Given the description of an element on the screen output the (x, y) to click on. 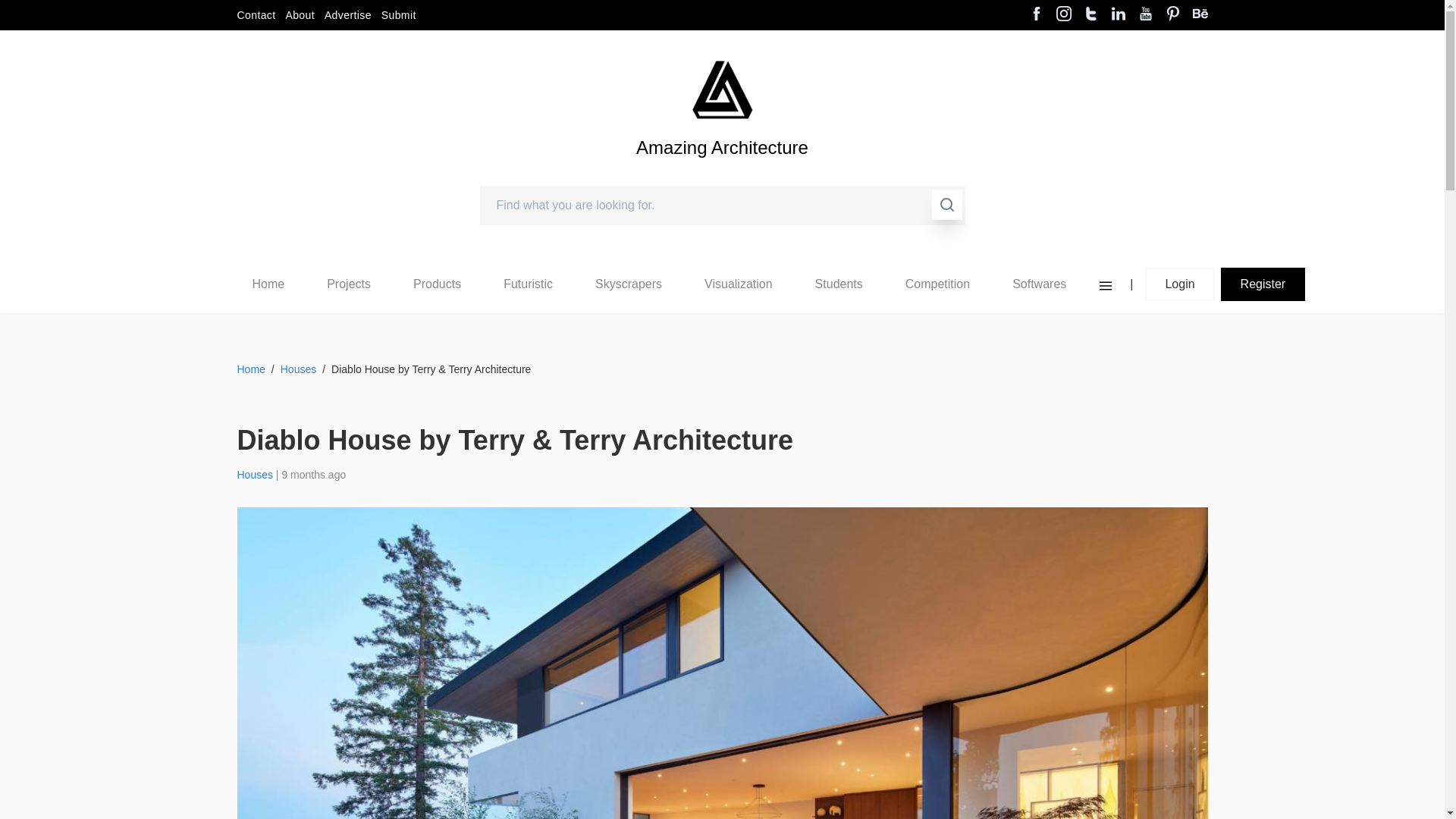
Submit (398, 15)
Contact (255, 15)
Amazing Architecture (722, 173)
Skyscrapers (628, 283)
Amazing Architecture (721, 88)
Projects (348, 283)
About (299, 15)
Futuristic (528, 283)
Home (267, 283)
Submit page (398, 15)
